Given the description of an element on the screen output the (x, y) to click on. 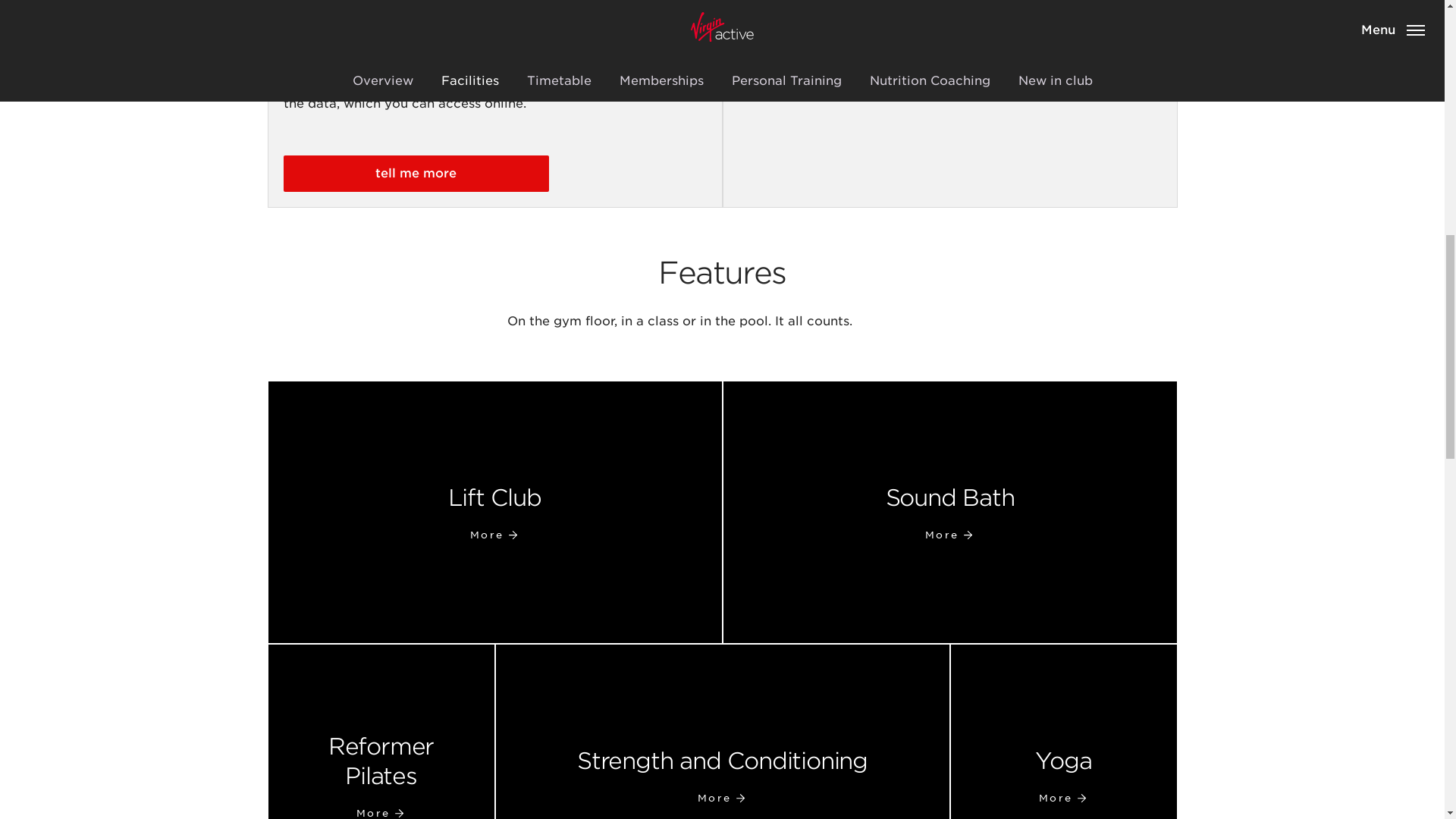
tell me more (1063, 731)
